Given the description of an element on the screen output the (x, y) to click on. 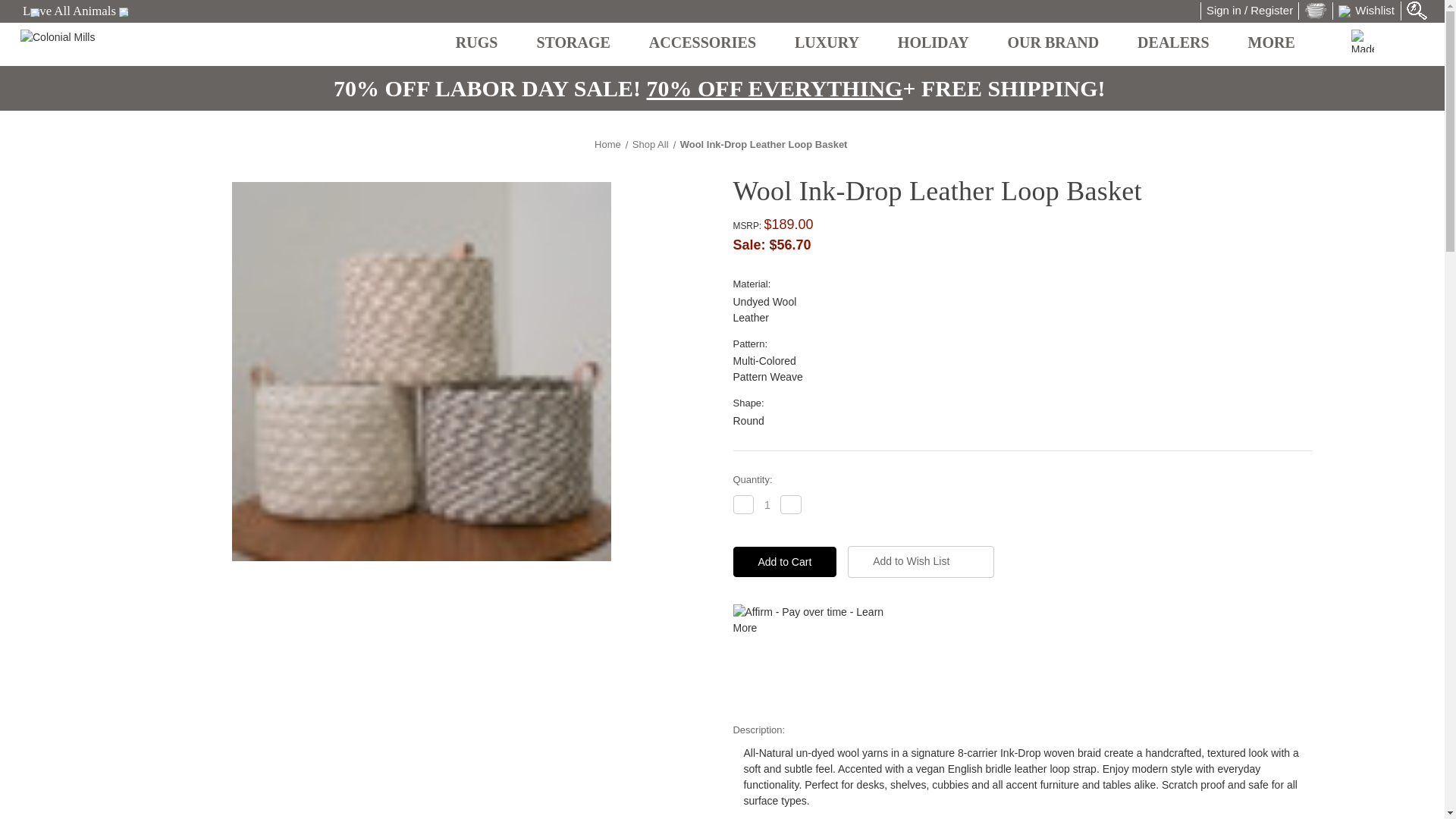
Wishlist (1366, 10)
search (1417, 10)
RUGS (484, 44)
Add to Cart (783, 562)
1 (767, 504)
Colonial Mills (90, 43)
Wishlist (1366, 10)
search (1416, 9)
